Given the description of an element on the screen output the (x, y) to click on. 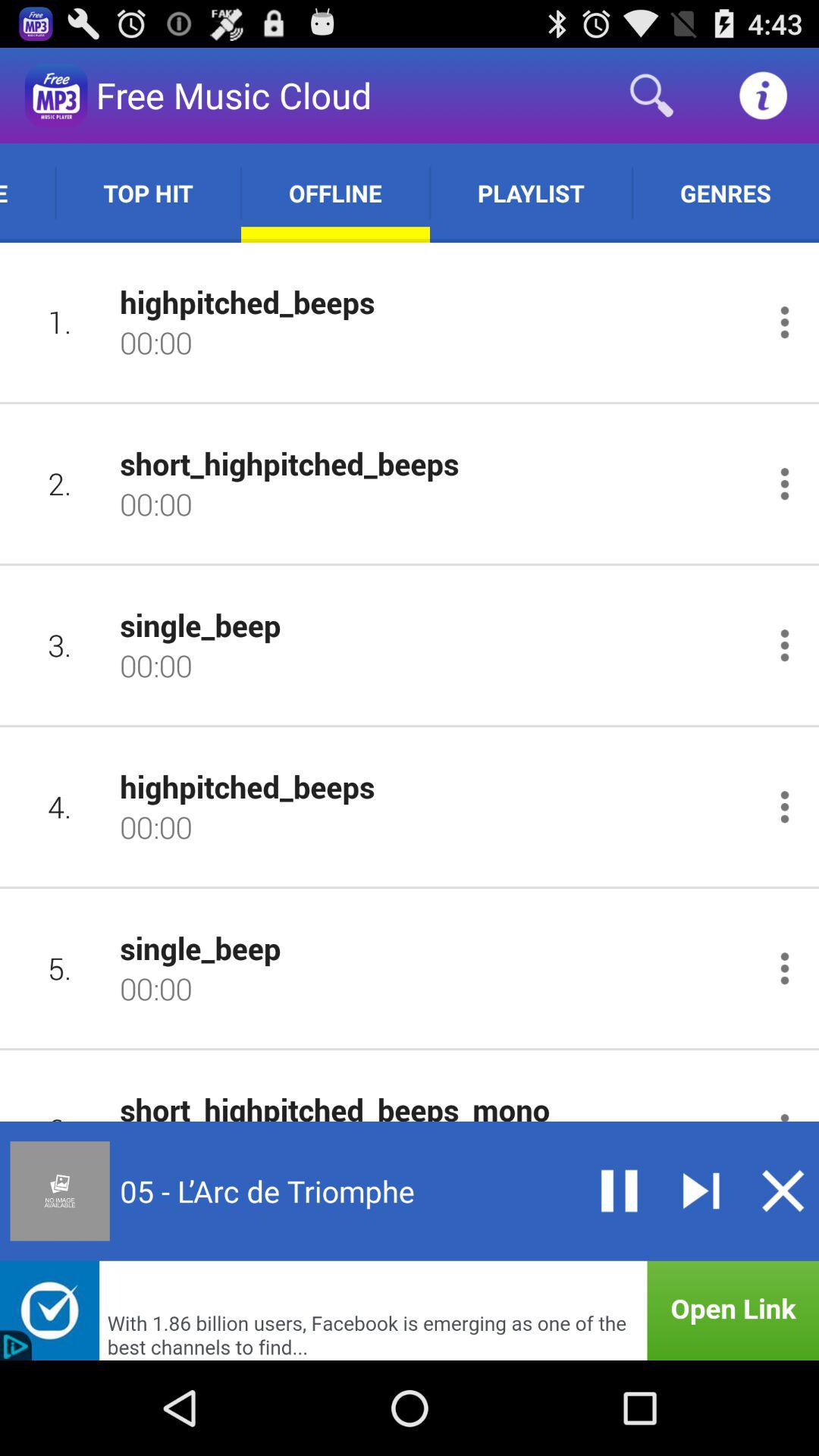
toggle pause (619, 1190)
